Given the description of an element on the screen output the (x, y) to click on. 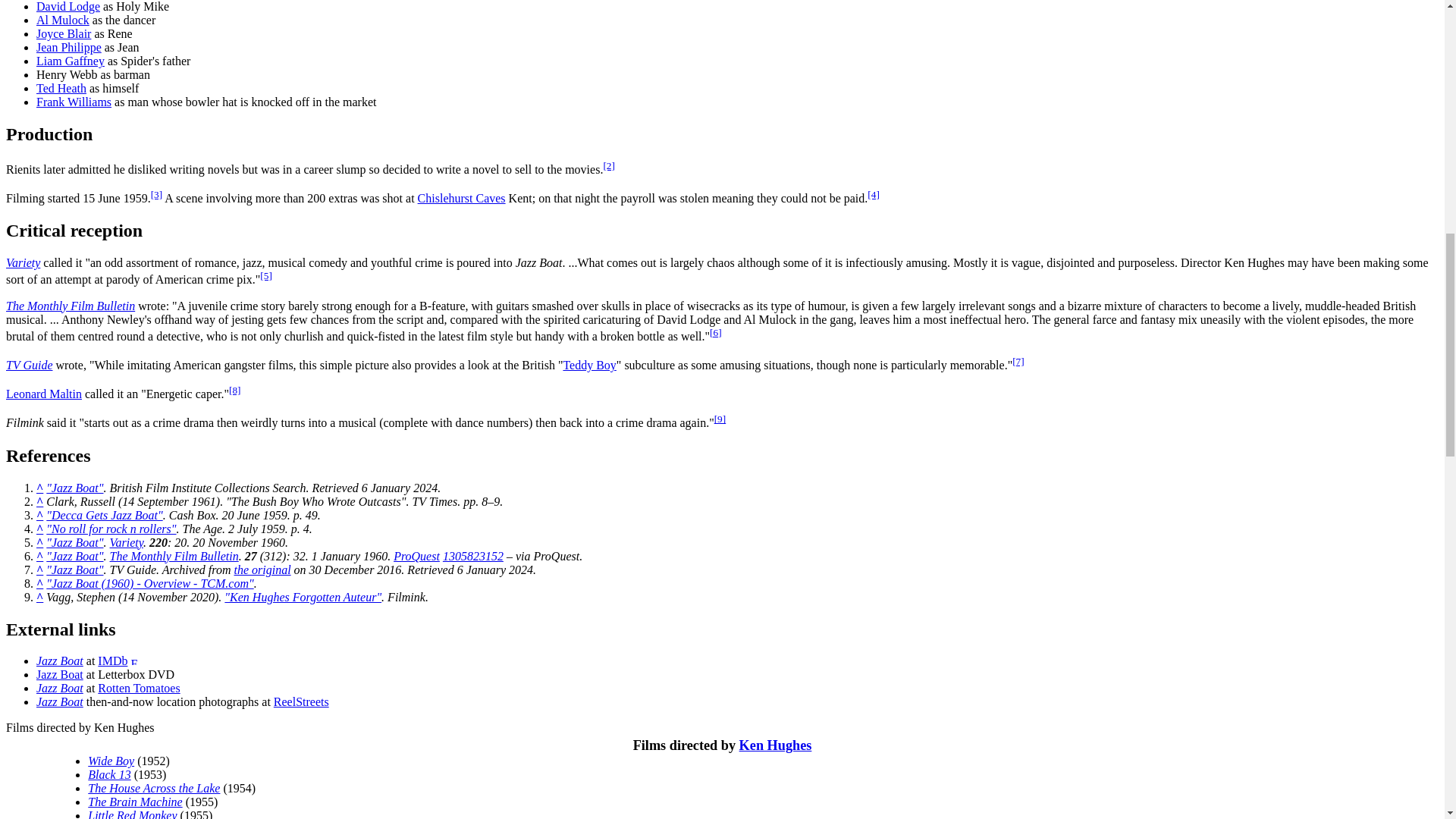
Jean Philippe (68, 47)
David Lodge (68, 6)
Joyce Blair (63, 33)
Al Mulock (62, 19)
